Given the description of an element on the screen output the (x, y) to click on. 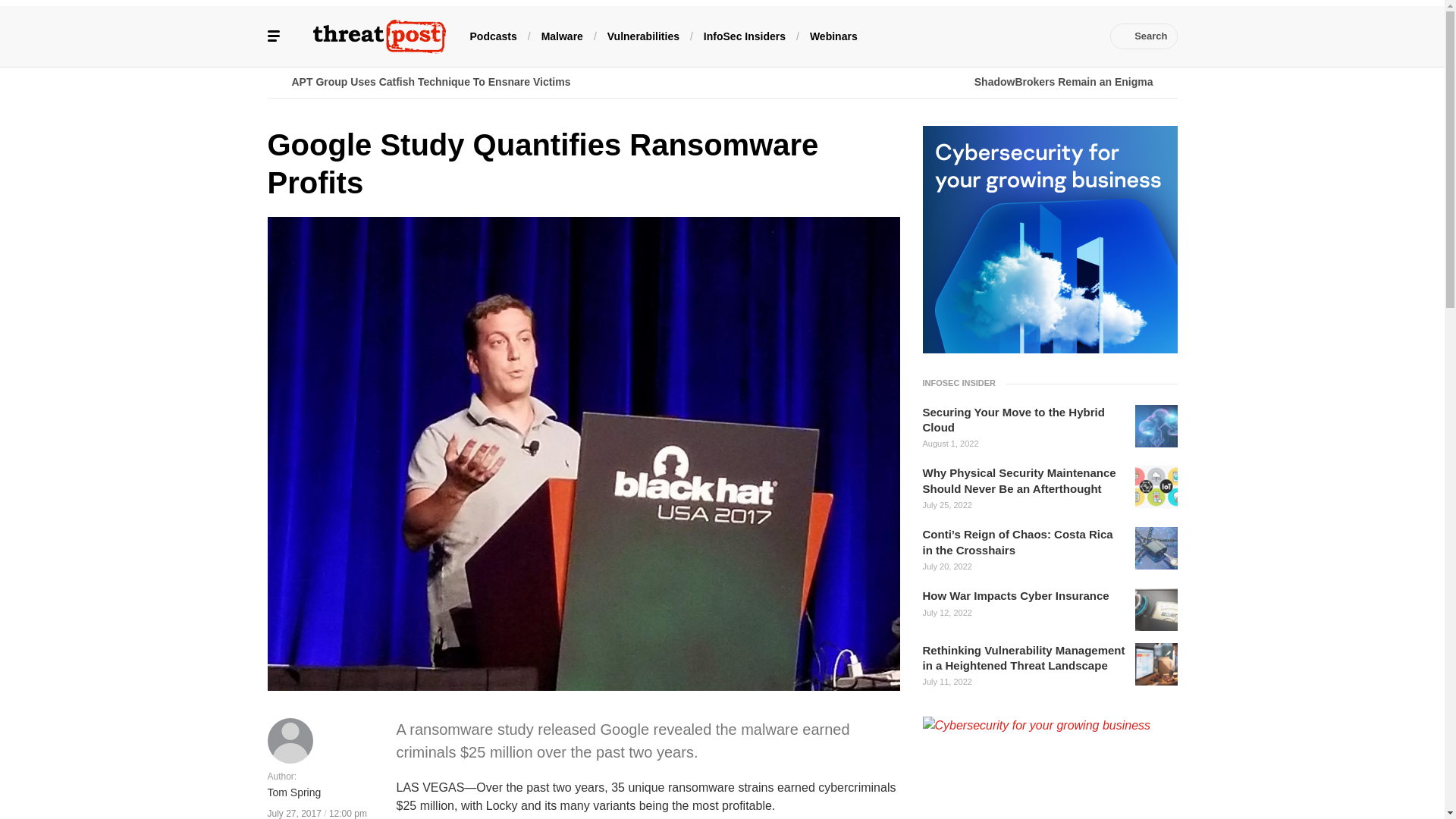
Instagram (1057, 36)
Threatpost (379, 36)
Twitter (966, 36)
Webinars (833, 35)
Podcasts (493, 35)
Malware (562, 35)
LinkedIn (989, 36)
Feedly (1034, 36)
Facebook (944, 36)
RSS (1080, 36)
